Given the description of an element on the screen output the (x, y) to click on. 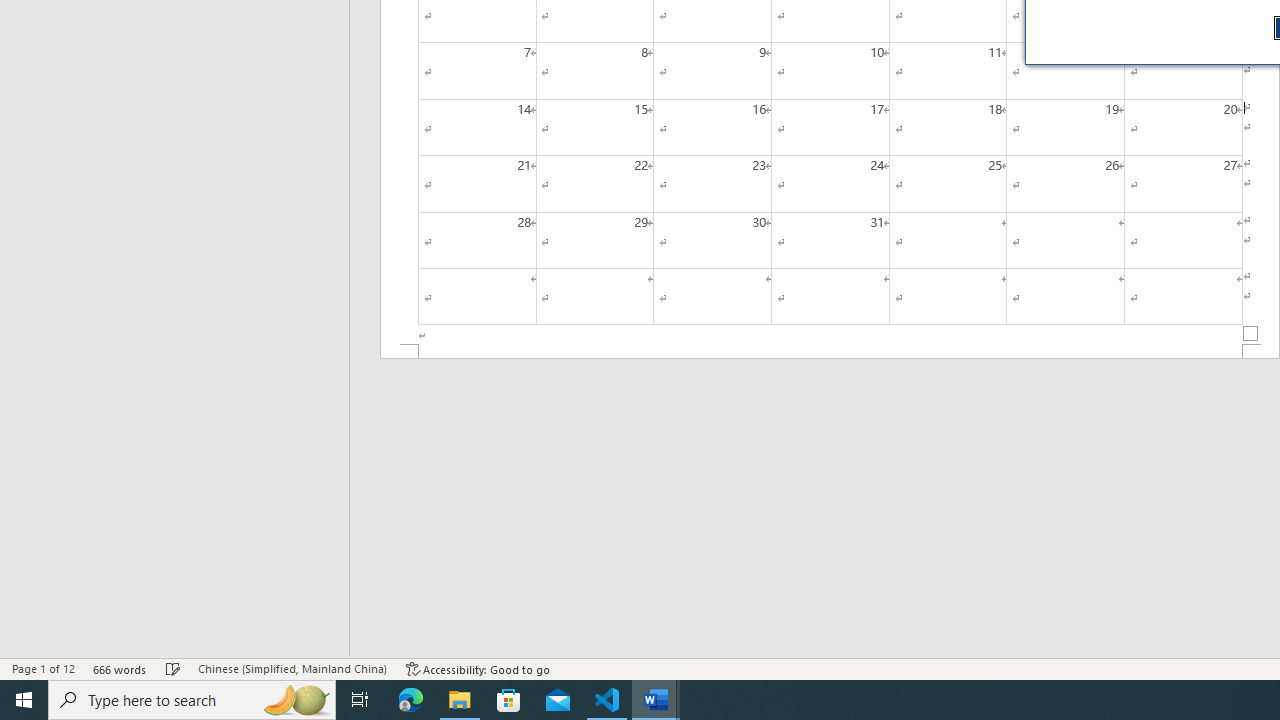
Footer -Section 1- (830, 351)
Task View (359, 699)
Spelling and Grammar Check Checking (173, 668)
File Explorer - 1 running window (460, 699)
Start (24, 699)
Microsoft Store (509, 699)
Search highlights icon opens search home window (295, 699)
Page Number Page 1 of 12 (43, 668)
Language Chinese (Simplified, Mainland China) (292, 668)
Word - 2 running windows (656, 699)
Type here to search (191, 699)
Accessibility Checker Accessibility: Good to go (478, 668)
Word Count 666 words (119, 668)
Microsoft Edge (411, 699)
